Given the description of an element on the screen output the (x, y) to click on. 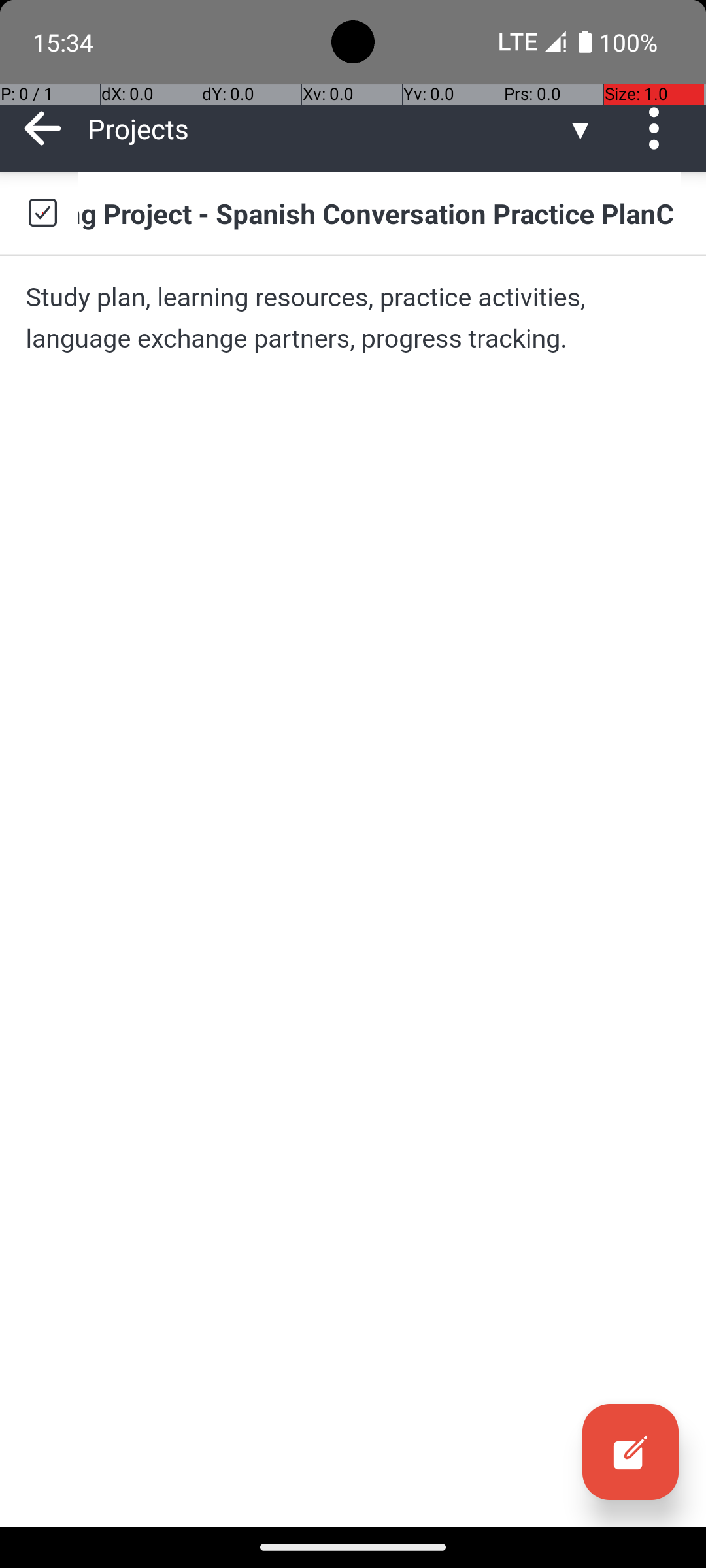
Language Learning Project - Spanish Conversation Practice PlanConversational Spanish Element type: android.widget.EditText (378, 213)
Study plan, learning resources, practice activities, language exchange partners, progress tracking. Element type: android.widget.TextView (352, 317)
